Given the description of an element on the screen output the (x, y) to click on. 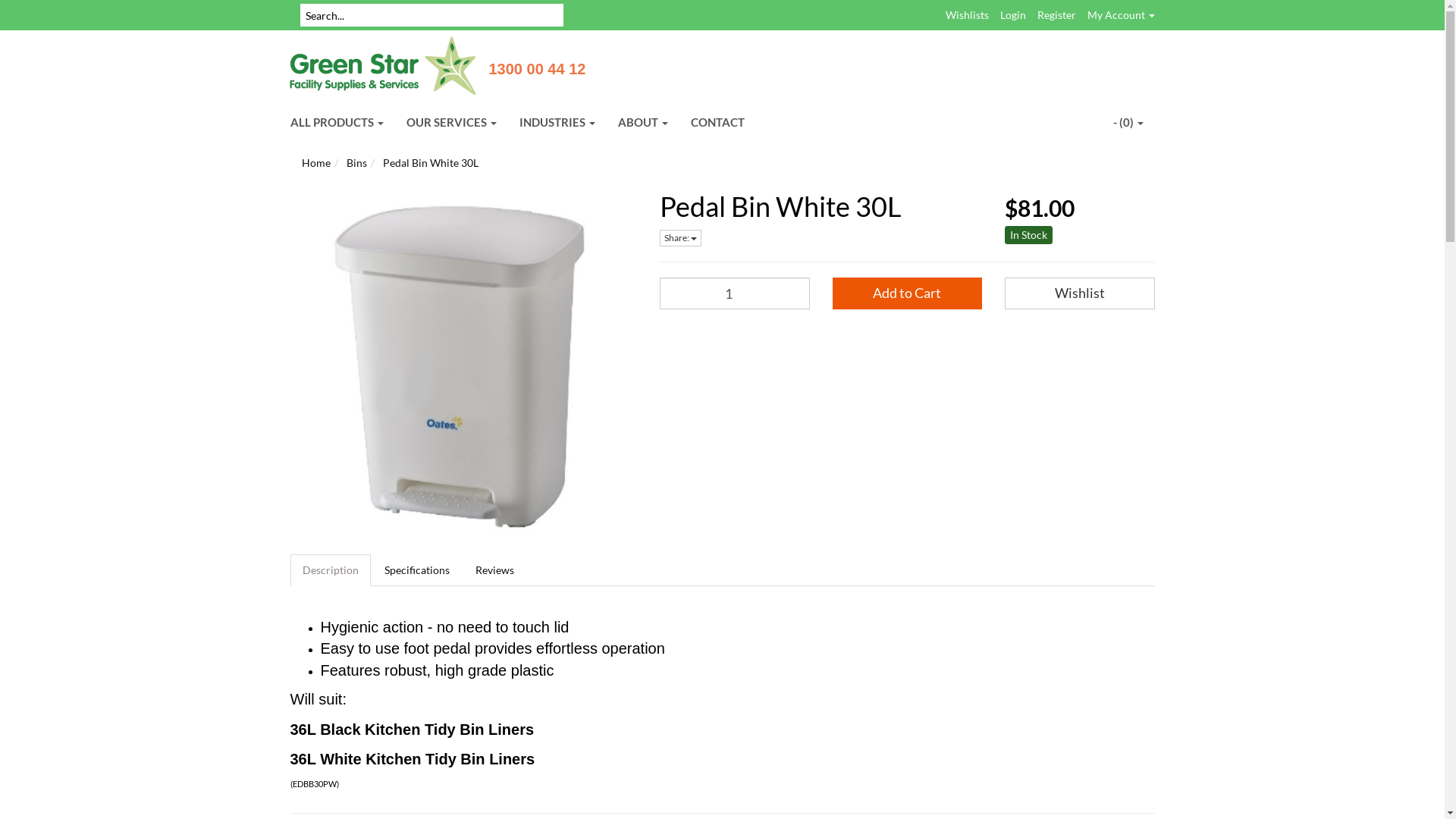
My Account Element type: text (1120, 14)
CONTACT Element type: text (717, 121)
OUR SERVICES Element type: text (450, 121)
Add to Cart Element type: text (907, 293)
Wishlist Element type: text (1079, 293)
ALL PRODUCTS Element type: text (337, 121)
- (0) Element type: text (1127, 121)
36L White Kitchen Tidy Bin Liners Element type: text (411, 759)
ABOUT Element type: text (642, 121)
Pedal Bin White 30L Element type: text (429, 162)
Bins Element type: text (355, 162)
Description Element type: text (329, 569)
1300 00 44 12 Element type: text (536, 68)
Wishlists Element type: text (966, 14)
Home Element type: text (315, 162)
Login Element type: text (1012, 14)
INDUSTRIES Element type: text (557, 121)
Search Element type: text (294, 14)
36L Black Kitchen Tidy Bin Liners Element type: text (411, 730)
Register Element type: text (1056, 14)
Share: Element type: text (680, 237)
Reviews Element type: text (493, 569)
Specifications Element type: text (416, 569)
